Given the description of an element on the screen output the (x, y) to click on. 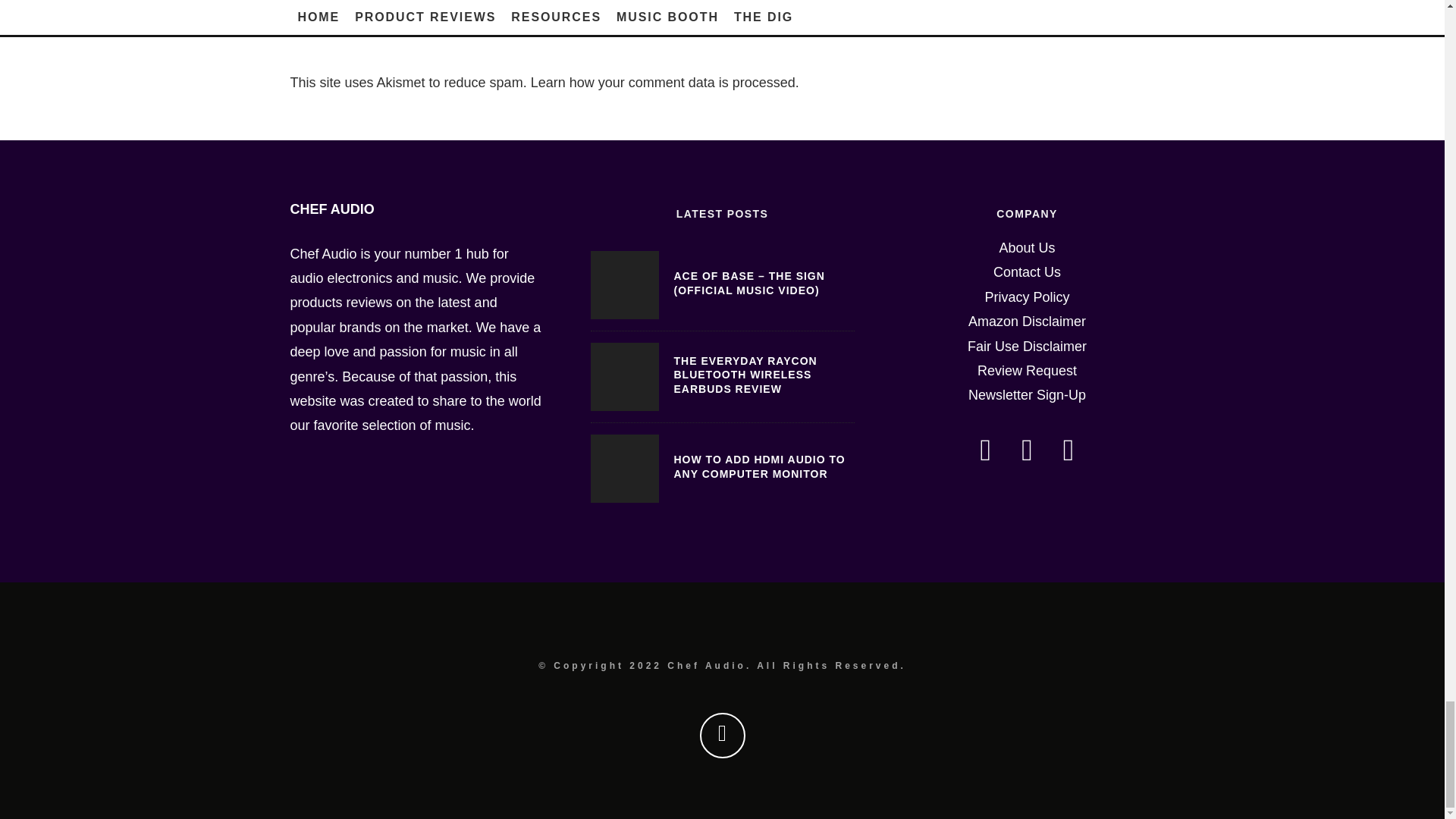
Submit (327, 16)
